Given the description of an element on the screen output the (x, y) to click on. 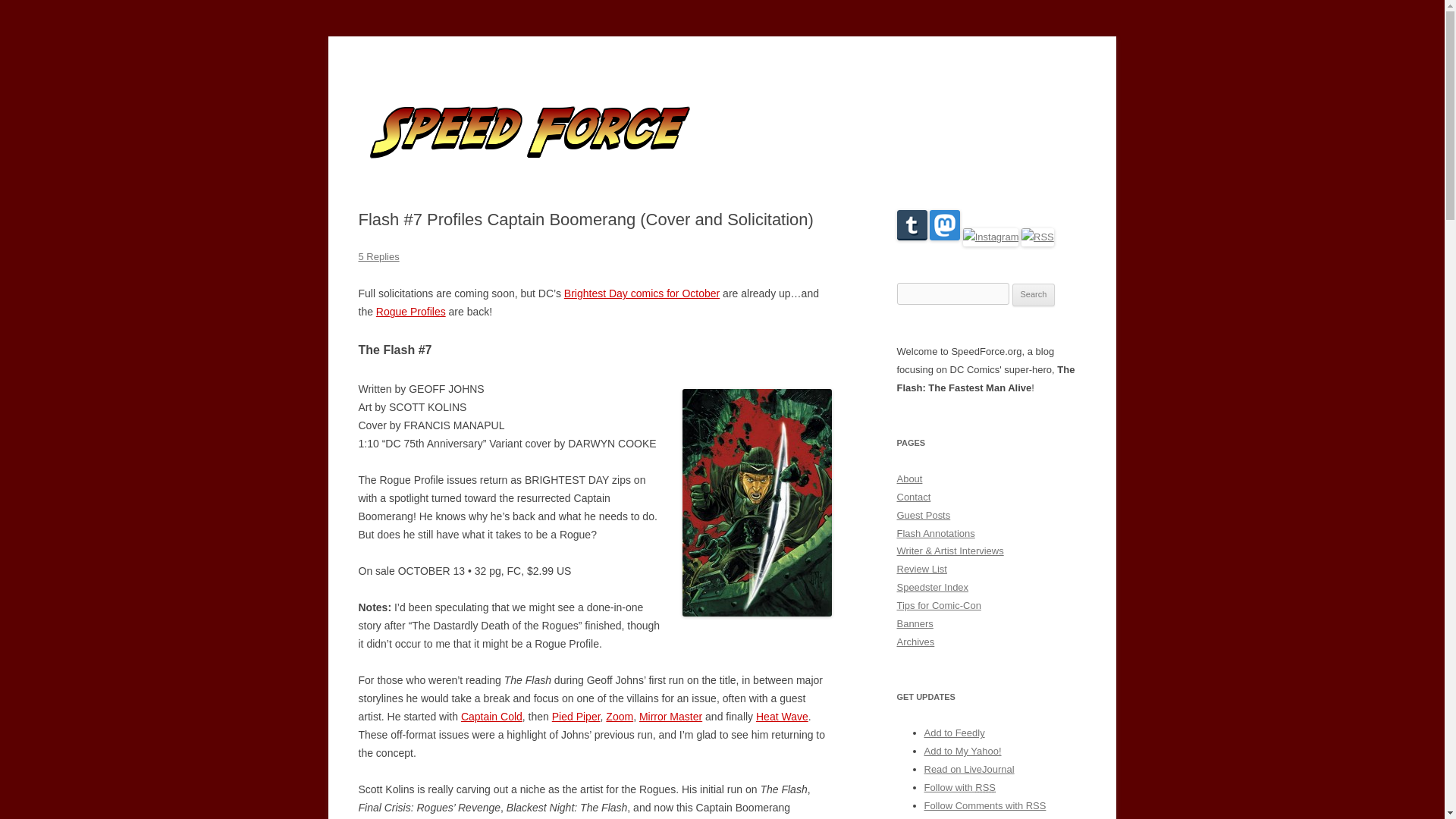
Mirror Master (670, 716)
Tumblr: SpeedForceOrg (911, 236)
RSS Feed (1038, 236)
Heat Wave (781, 716)
Syndicate this site using RSS 2.0 (959, 787)
Rogue Profiles (410, 311)
Instagram Photos from Speed Force (990, 236)
Captain Cold (491, 716)
Search (1033, 294)
Pied Piper (575, 716)
Brightest Day comics for October (641, 293)
The latest comments to all posts in RSS (984, 805)
5 Replies (378, 256)
Speed Force (417, 72)
